Given the description of an element on the screen output the (x, y) to click on. 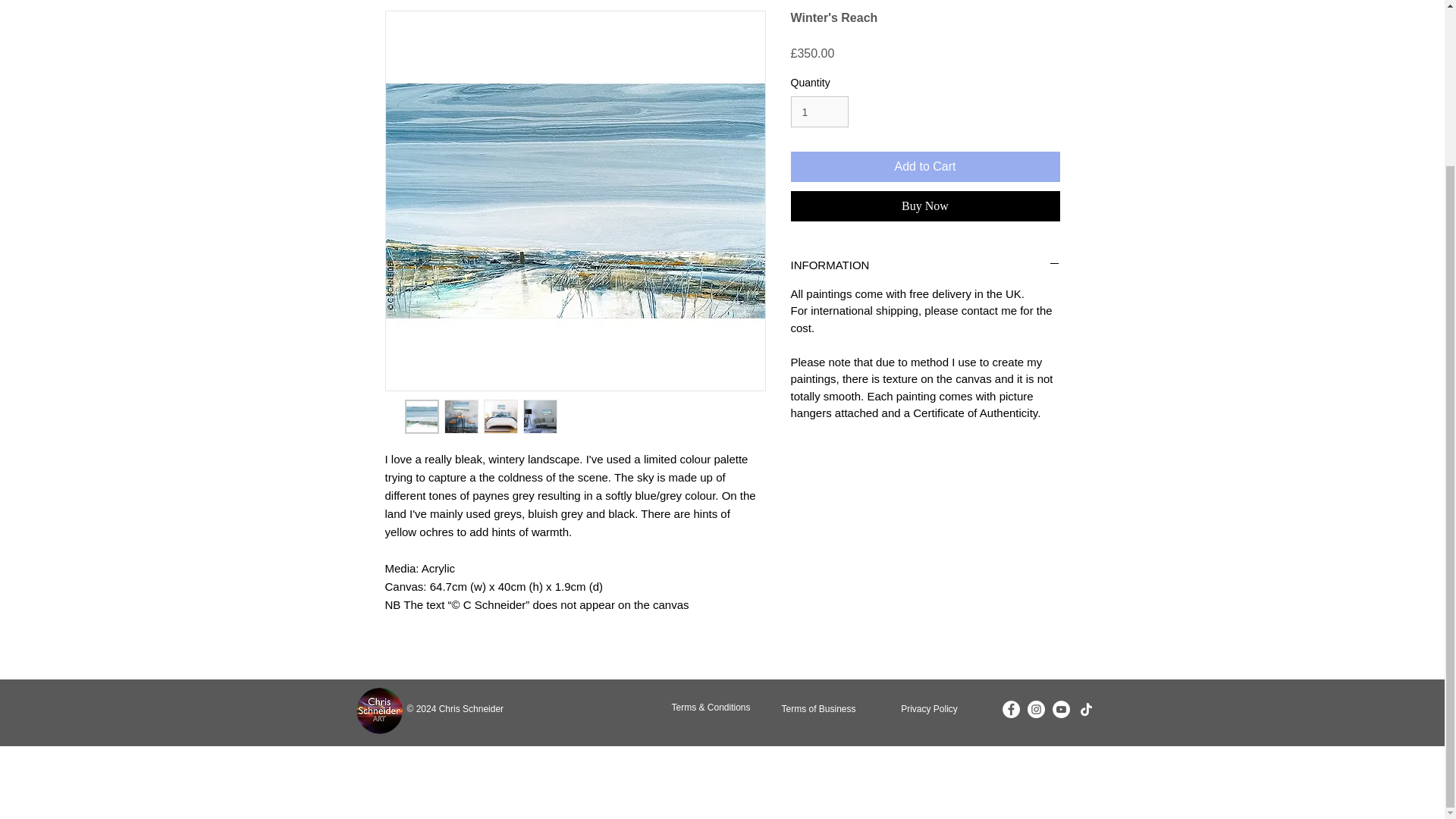
INFORMATION (924, 264)
Add to Cart (924, 166)
Buy Now (924, 205)
Privacy Policy (928, 709)
Terms of Business (818, 709)
1 (818, 111)
